Given the description of an element on the screen output the (x, y) to click on. 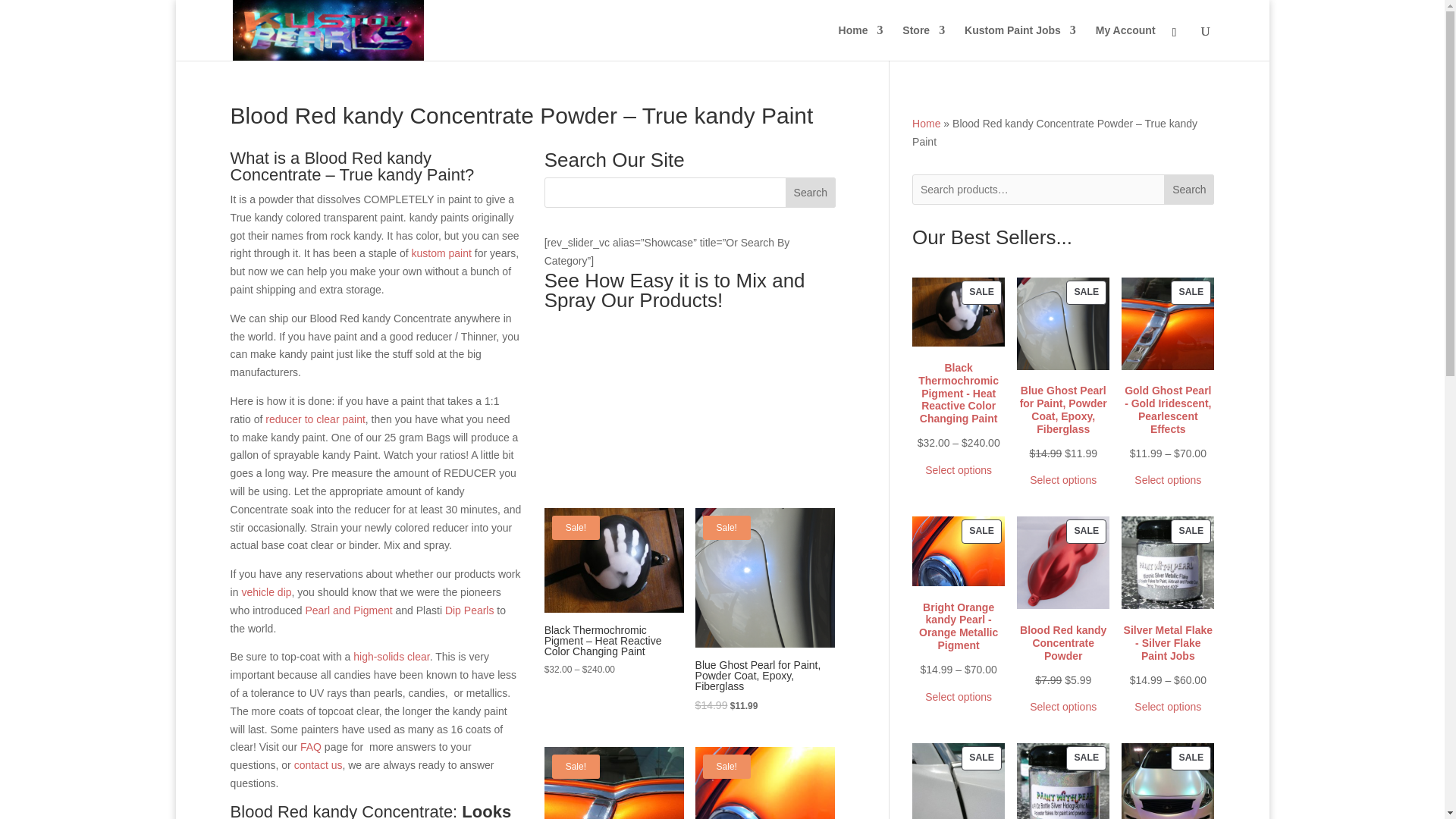
Kustom Paint Jobs (1019, 42)
Blood Red kandy Concentrate Powder - True kandy Paint 3 (614, 782)
Blood Red kandy Concentrate Powder - True kandy Paint 2 (764, 577)
Store (923, 42)
Blood Red kandy Concentrate Powder - True kandy Paint 4 (764, 782)
Blood Red kandy Concentrate Powder - True kandy Paint 1 (614, 559)
Home (860, 42)
Search (810, 192)
How to Mix Our Products into paint (689, 399)
My Account (1126, 42)
